Given the description of an element on the screen output the (x, y) to click on. 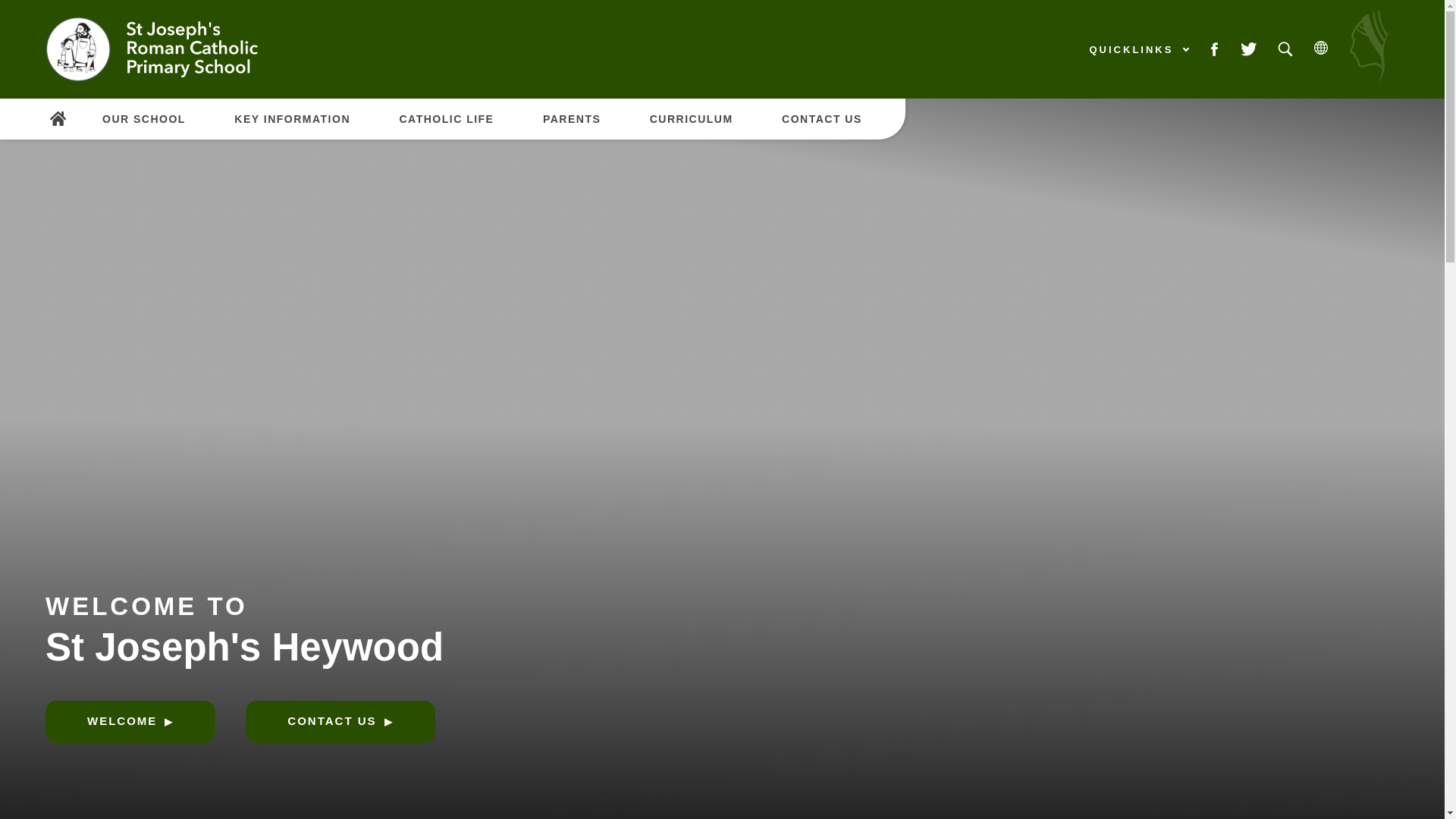
QUICKLINKS (1138, 49)
